Given the description of an element on the screen output the (x, y) to click on. 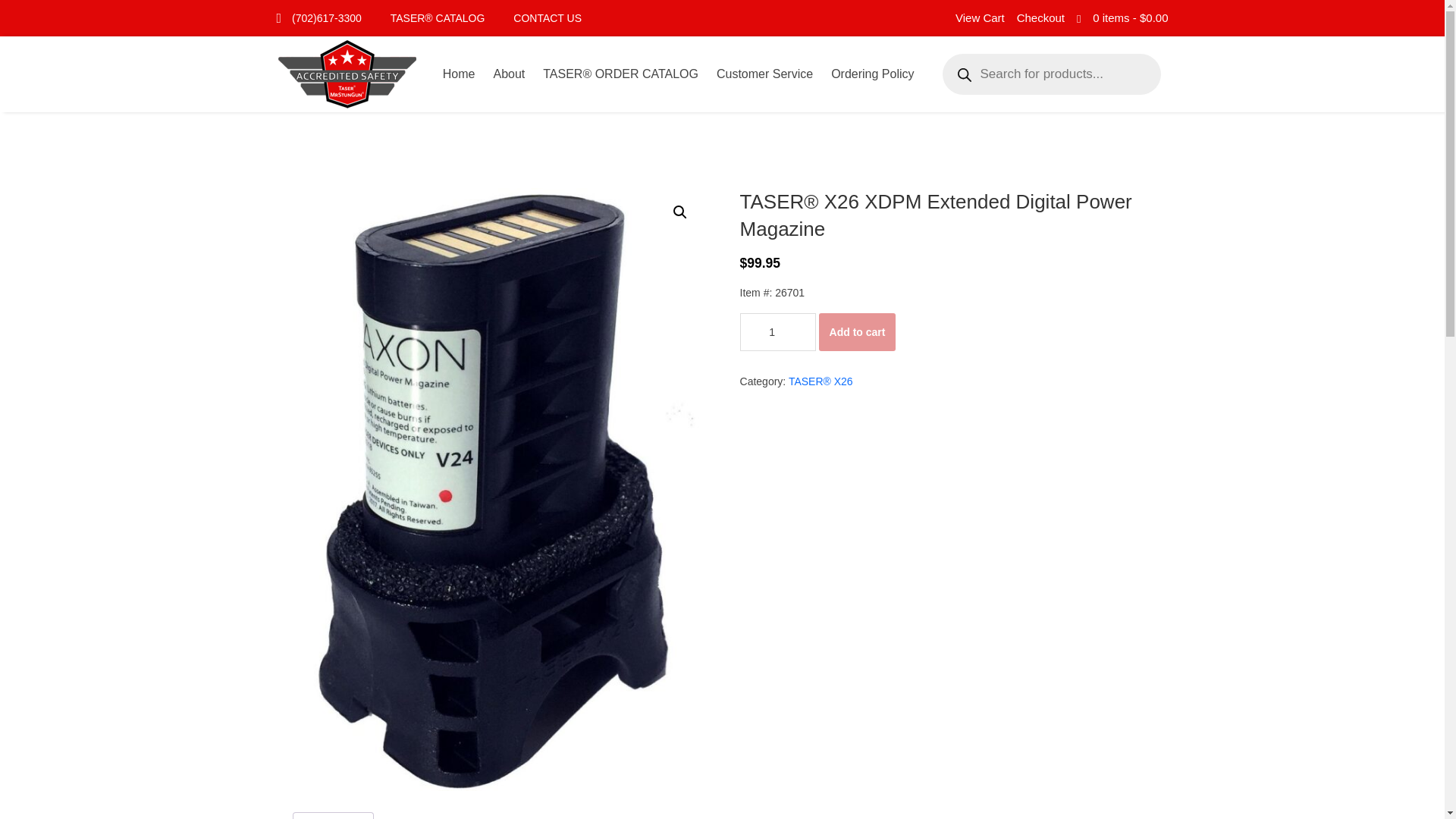
1 (777, 331)
Customer Service (764, 74)
Add to cart (857, 331)
View your shopping cart (1130, 17)
Description (331, 816)
View Cart (979, 17)
Ordering Policy (872, 74)
CONTACT US (546, 18)
Checkout (1040, 17)
